Given the description of an element on the screen output the (x, y) to click on. 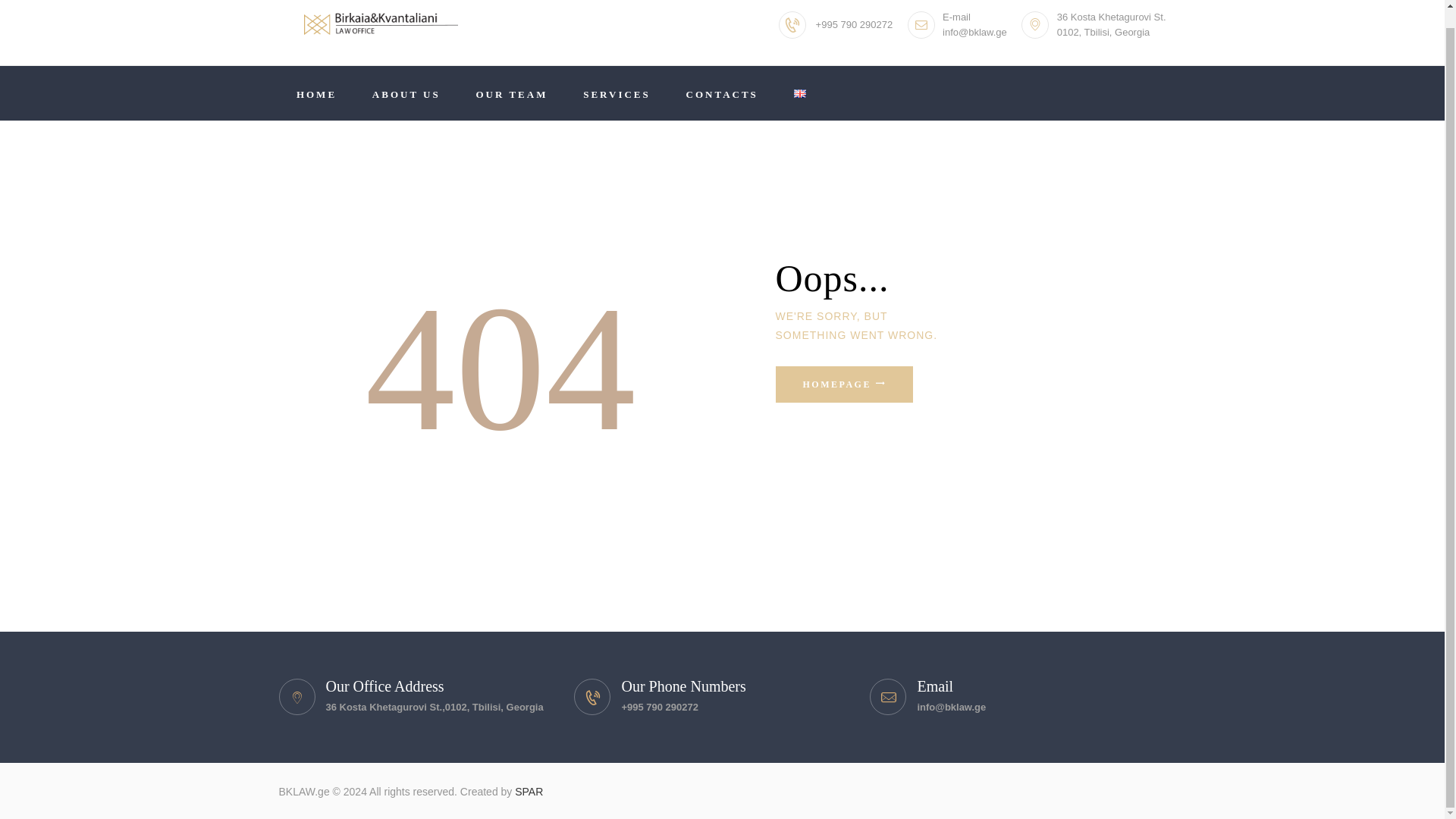
CONTACTS (722, 93)
SPAR (529, 791)
OUR TEAM (512, 93)
ABOUT US (405, 93)
HOMEPAGE (843, 384)
HOME (317, 93)
SERVICES (617, 93)
